Given the description of an element on the screen output the (x, y) to click on. 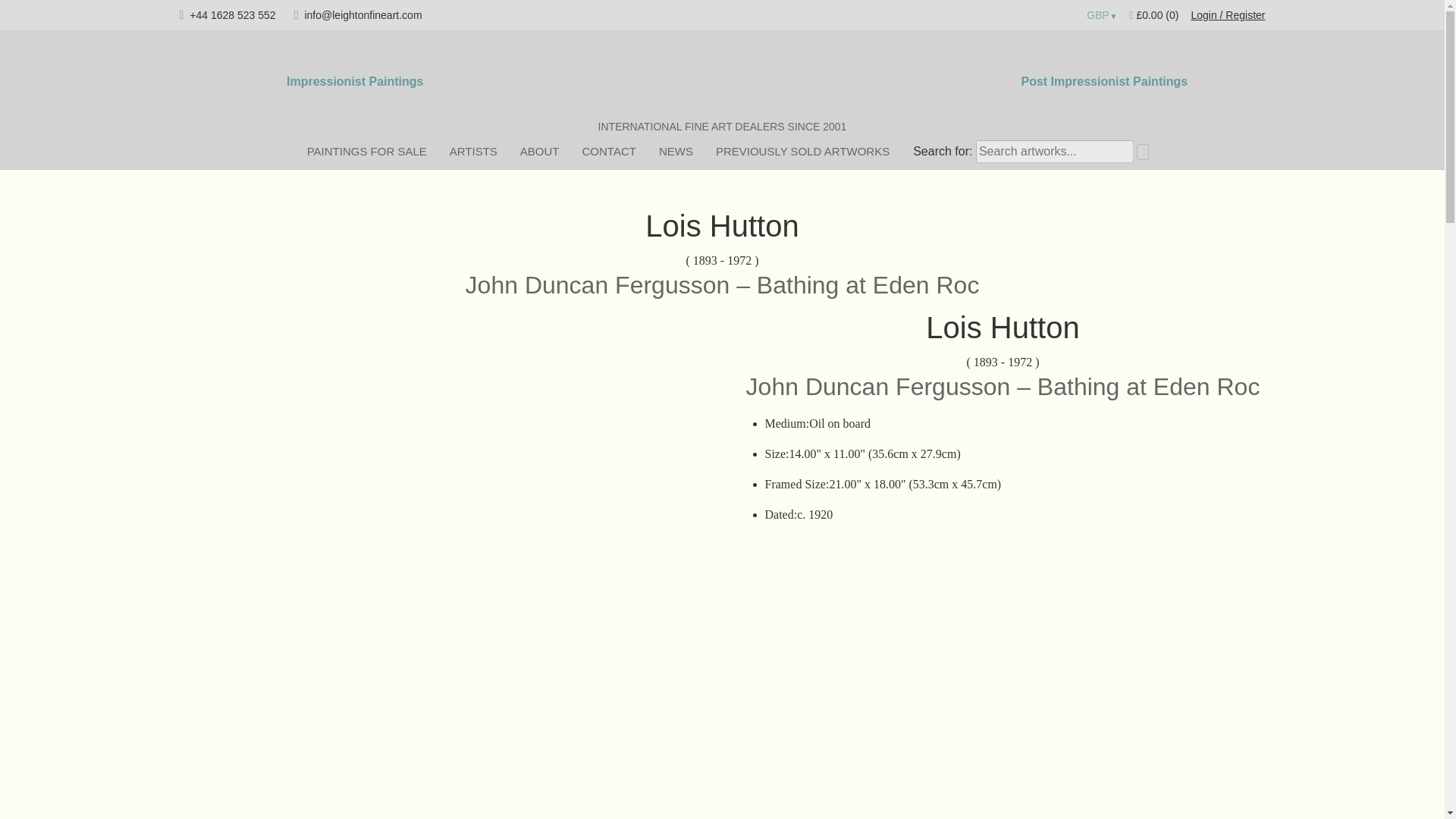
Lois Hutton (1002, 327)
PREVIOUSLY SOLD ARTWORKS (802, 150)
ARTISTS (473, 150)
Lois Hutton (721, 225)
Impressionist Paintings (354, 82)
PAINTINGS FOR SALE (366, 150)
CONTACT (608, 150)
NEWS (675, 150)
Post Impressionist Paintings (1104, 82)
ABOUT (539, 150)
